Given the description of an element on the screen output the (x, y) to click on. 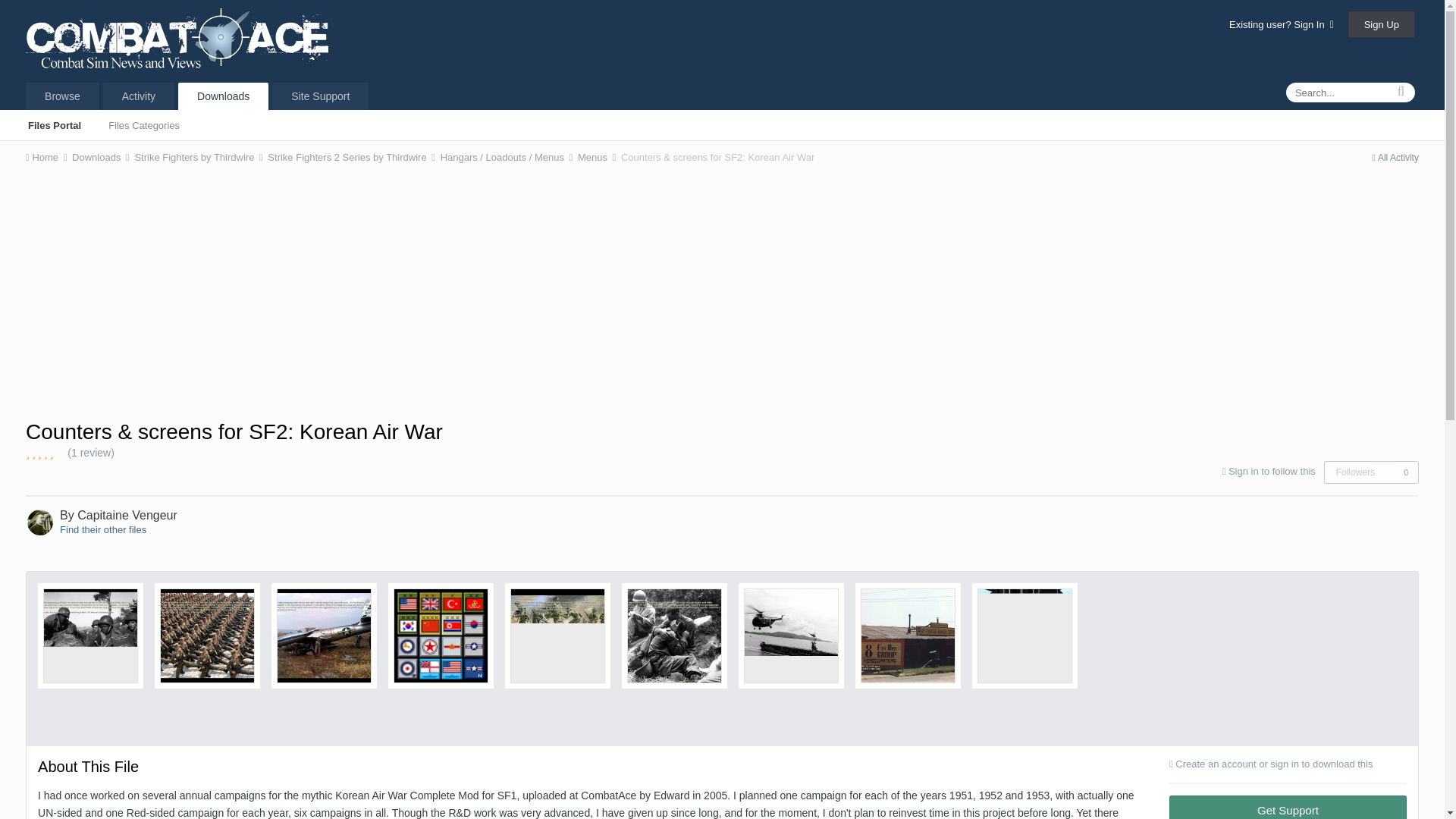
Downloads (222, 95)
Home (47, 156)
All Activity (1394, 157)
Site Support (320, 95)
Strike Fighters by Thirdwire (198, 156)
Get support for this download (1287, 807)
Home (47, 156)
Existing user? Sign In   (1280, 24)
Activity (138, 95)
Go to Capitaine Vengeur's profile (39, 522)
Go to Capitaine Vengeur's profile (127, 514)
Sign Up (1381, 24)
Advertisement (721, 290)
Go to the sign in page (1272, 471)
Downloads (101, 156)
